Given the description of an element on the screen output the (x, y) to click on. 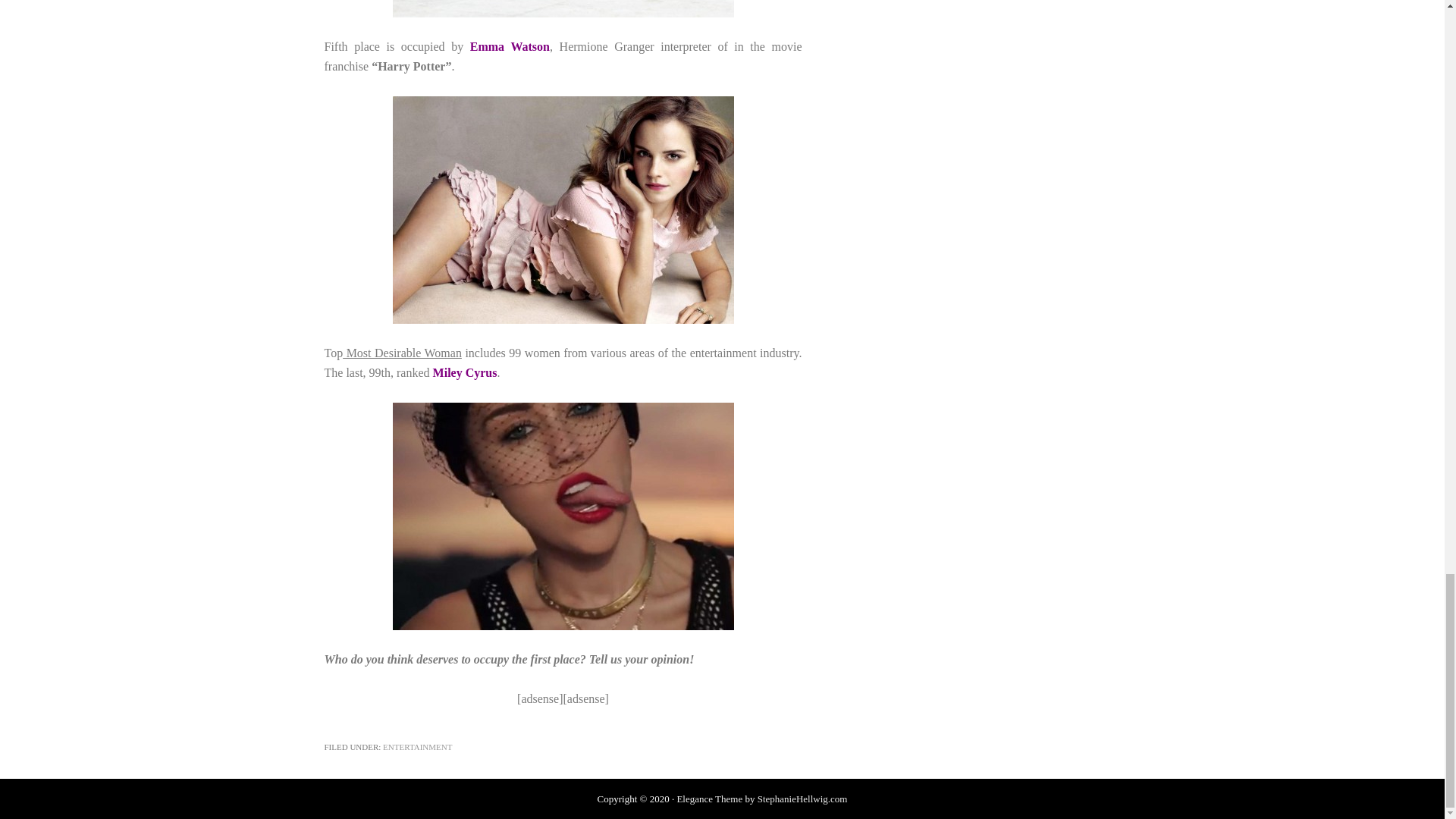
ENTERTAINMENT (416, 746)
StephanieHellwig.com (802, 798)
Elegance Theme (709, 798)
